Given the description of an element on the screen output the (x, y) to click on. 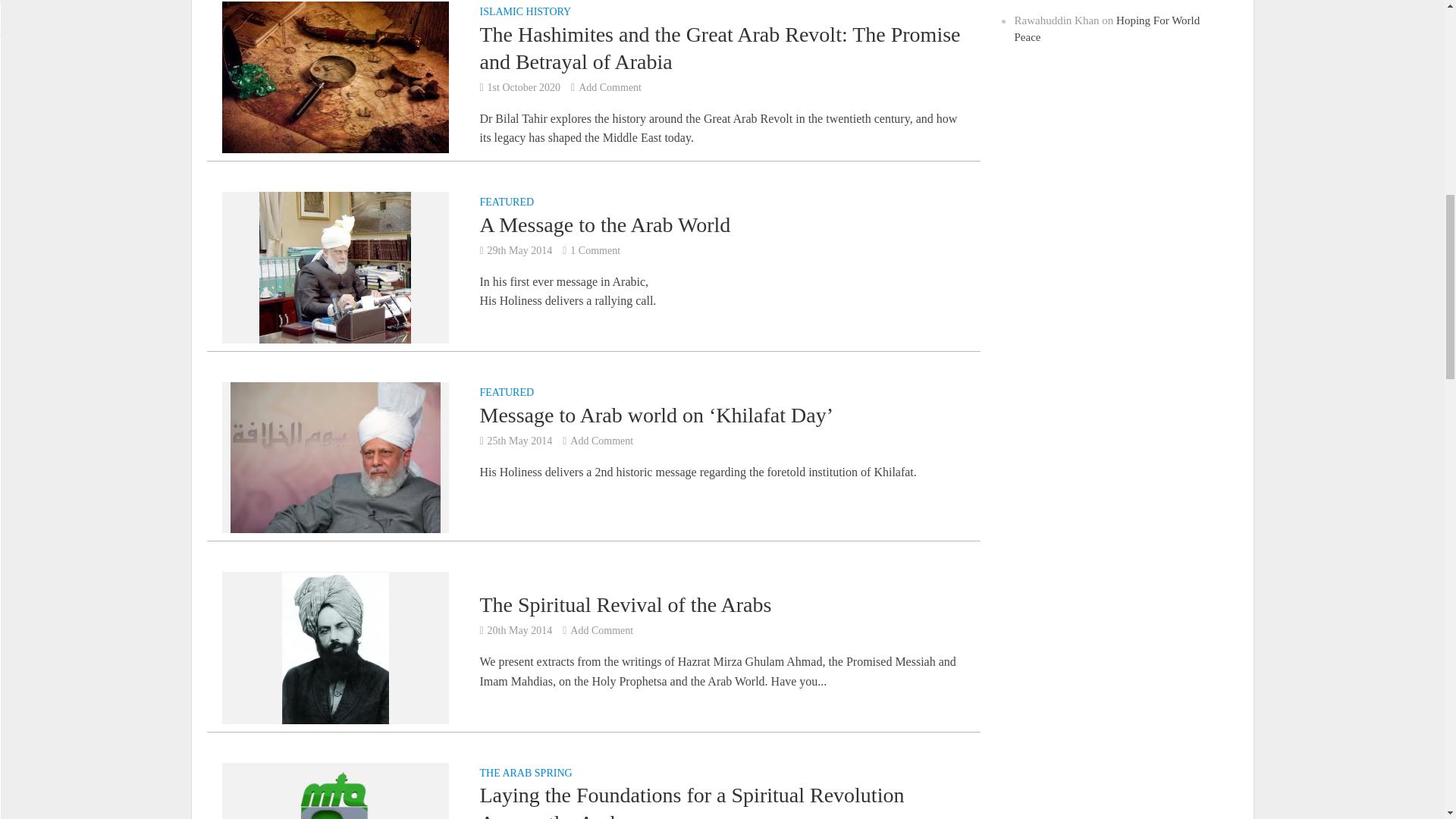
A Message to the Arab World (334, 266)
The Spiritual Revival of the Arabs (335, 645)
